Given the description of an element on the screen output the (x, y) to click on. 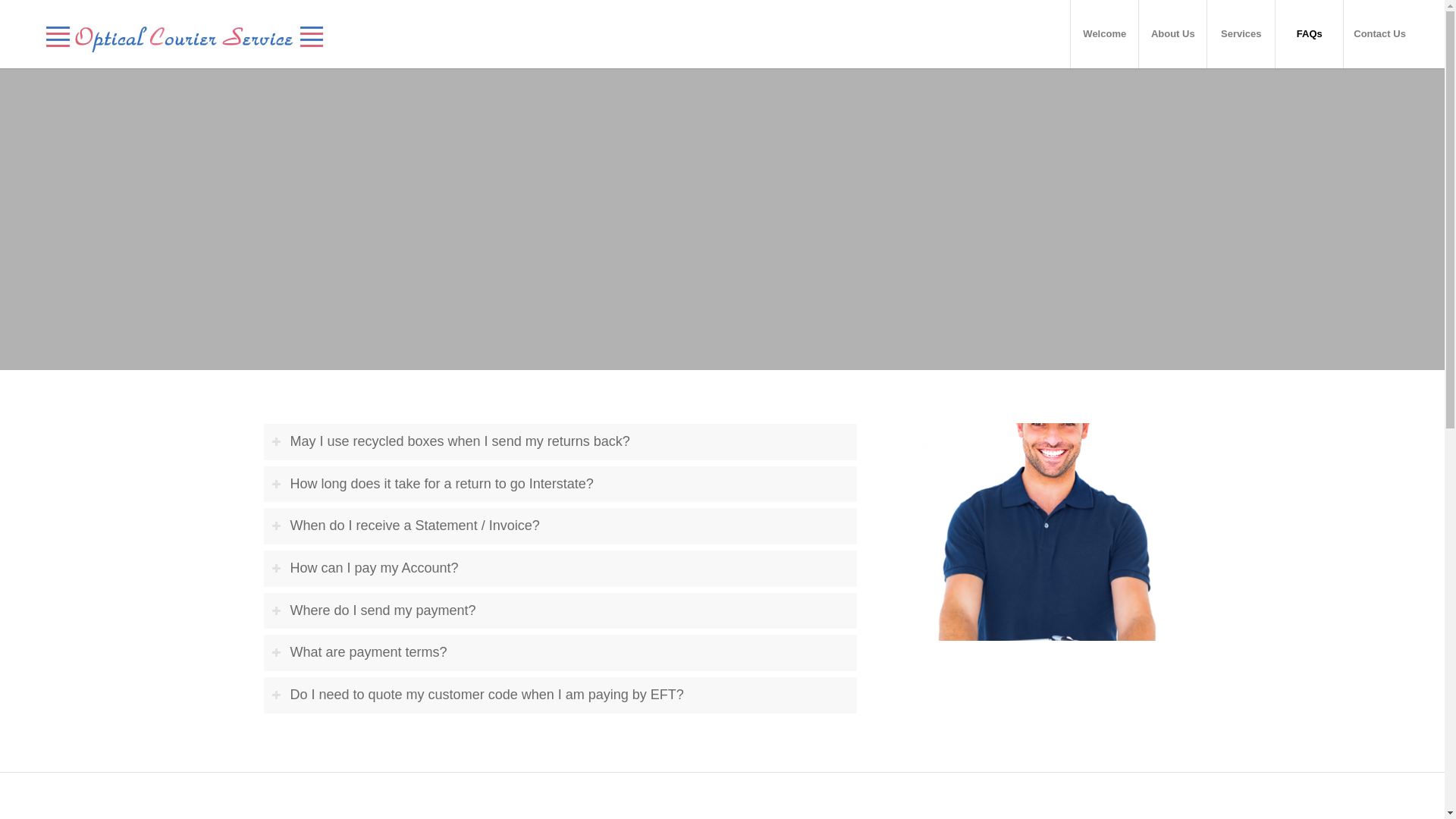
Welcome (1104, 33)
About Us (1172, 33)
FAQs (1308, 33)
Contact Us (1378, 33)
delivery-man-png-Images (1046, 531)
Services (1241, 33)
